Given the description of an element on the screen output the (x, y) to click on. 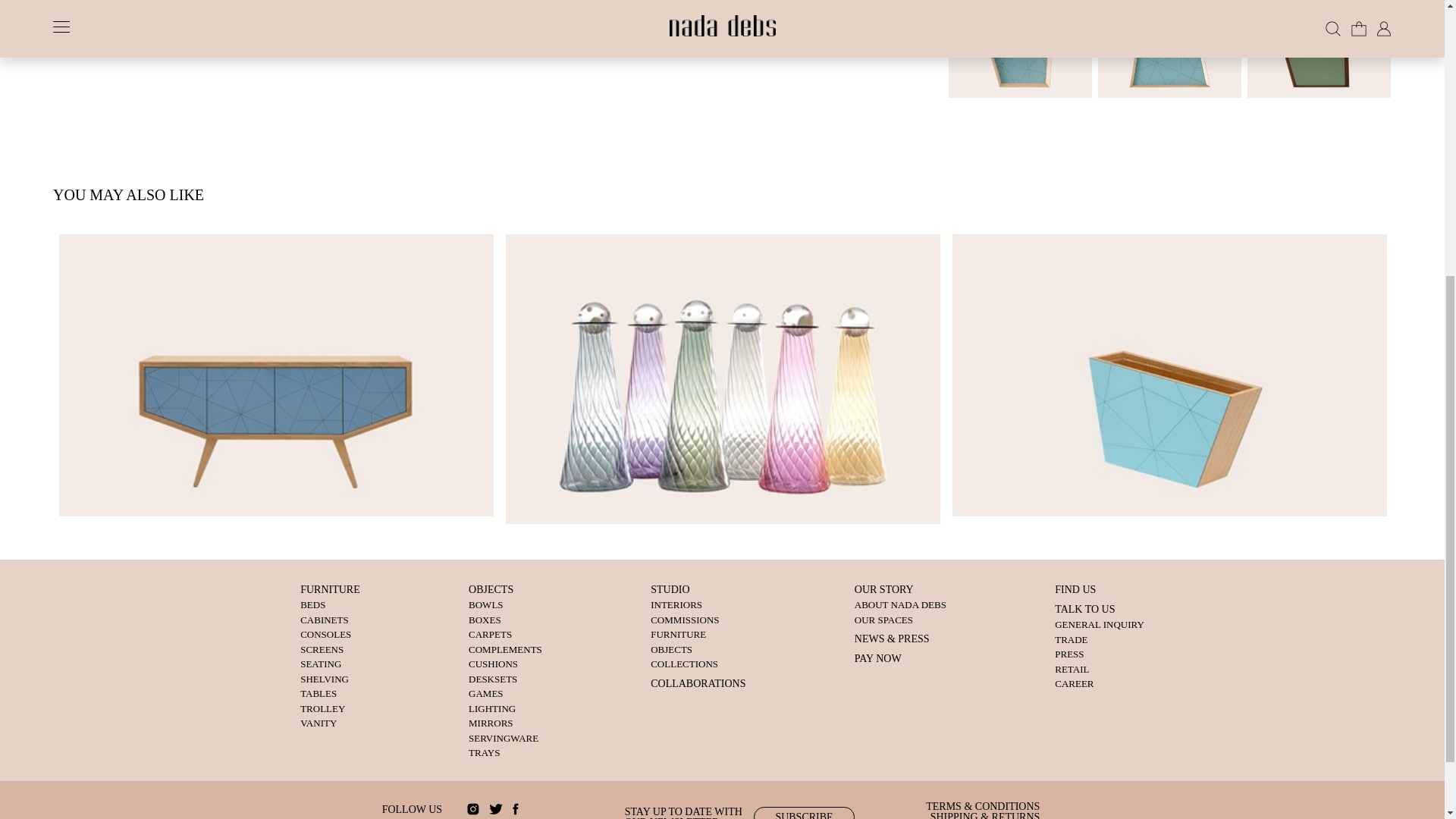
Twitter (495, 807)
Vintage Tray Blue Small (1019, 50)
Vintage Tray Blue Large (1169, 50)
Vintage Tray Green Small (1318, 50)
Instagram (475, 807)
Facebook (515, 807)
